Given the description of an element on the screen output the (x, y) to click on. 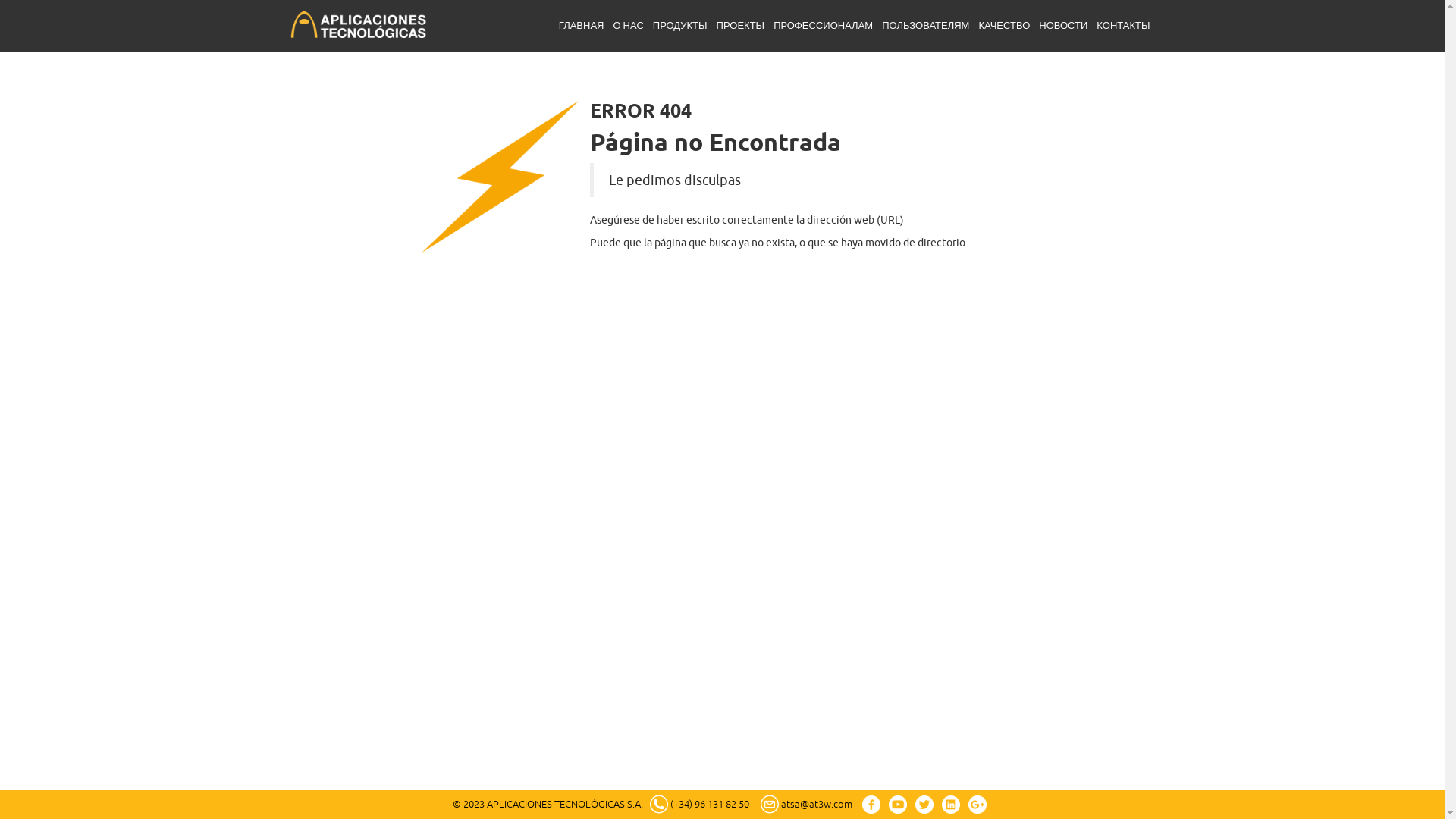
atsa@at3w.com Element type: text (816, 804)
Linkedin Element type: hover (950, 804)
Goolge + Element type: hover (977, 804)
(+34) 96 131 82 50 Element type: text (709, 804)
Youtube Element type: hover (897, 804)
Facebook Element type: hover (871, 804)
Twitter Element type: hover (924, 804)
